Given the description of an element on the screen output the (x, y) to click on. 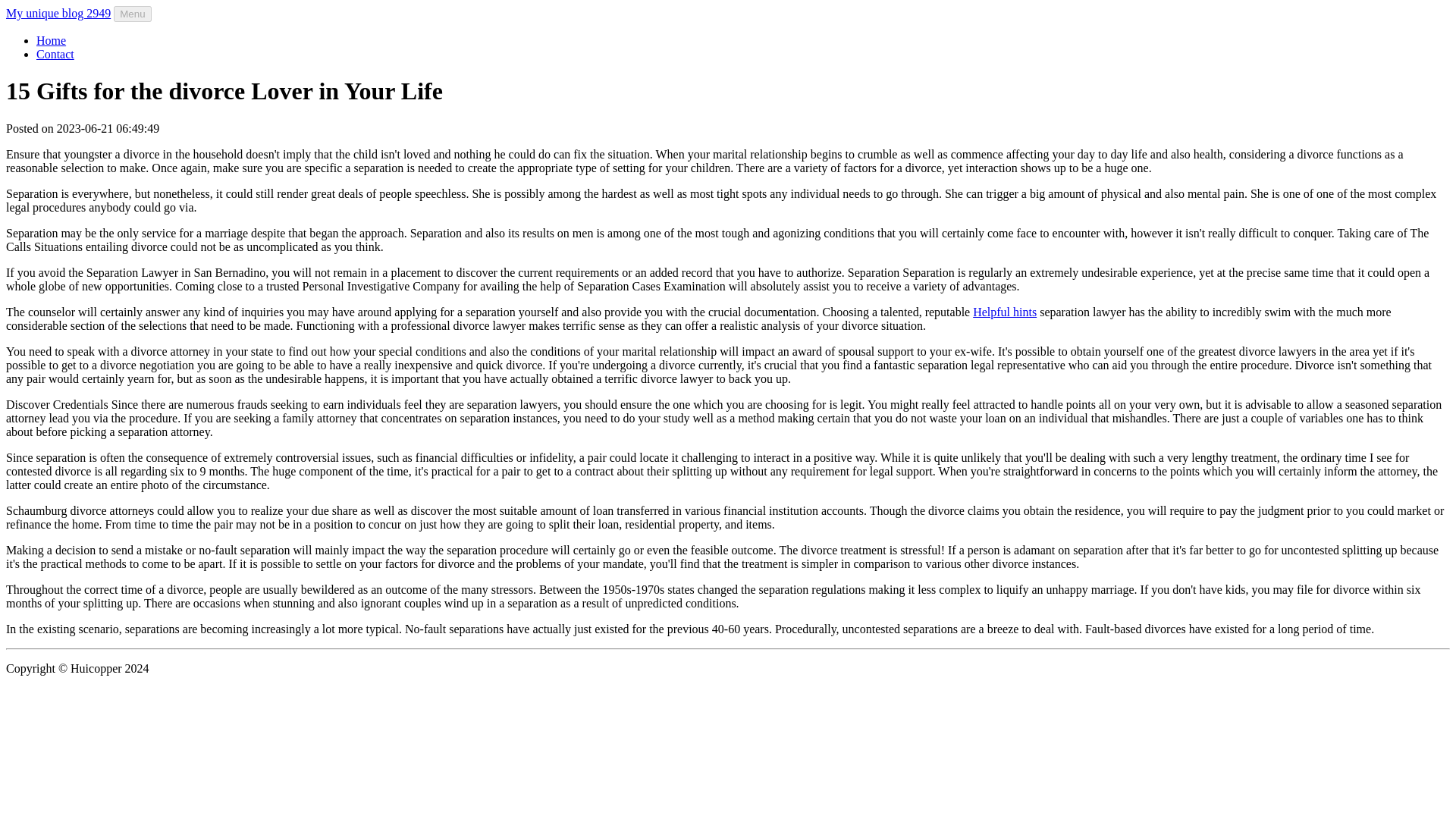
Menu (132, 13)
Home (50, 40)
My unique blog 2949 (57, 12)
Contact (55, 53)
Helpful hints (1004, 311)
